Given the description of an element on the screen output the (x, y) to click on. 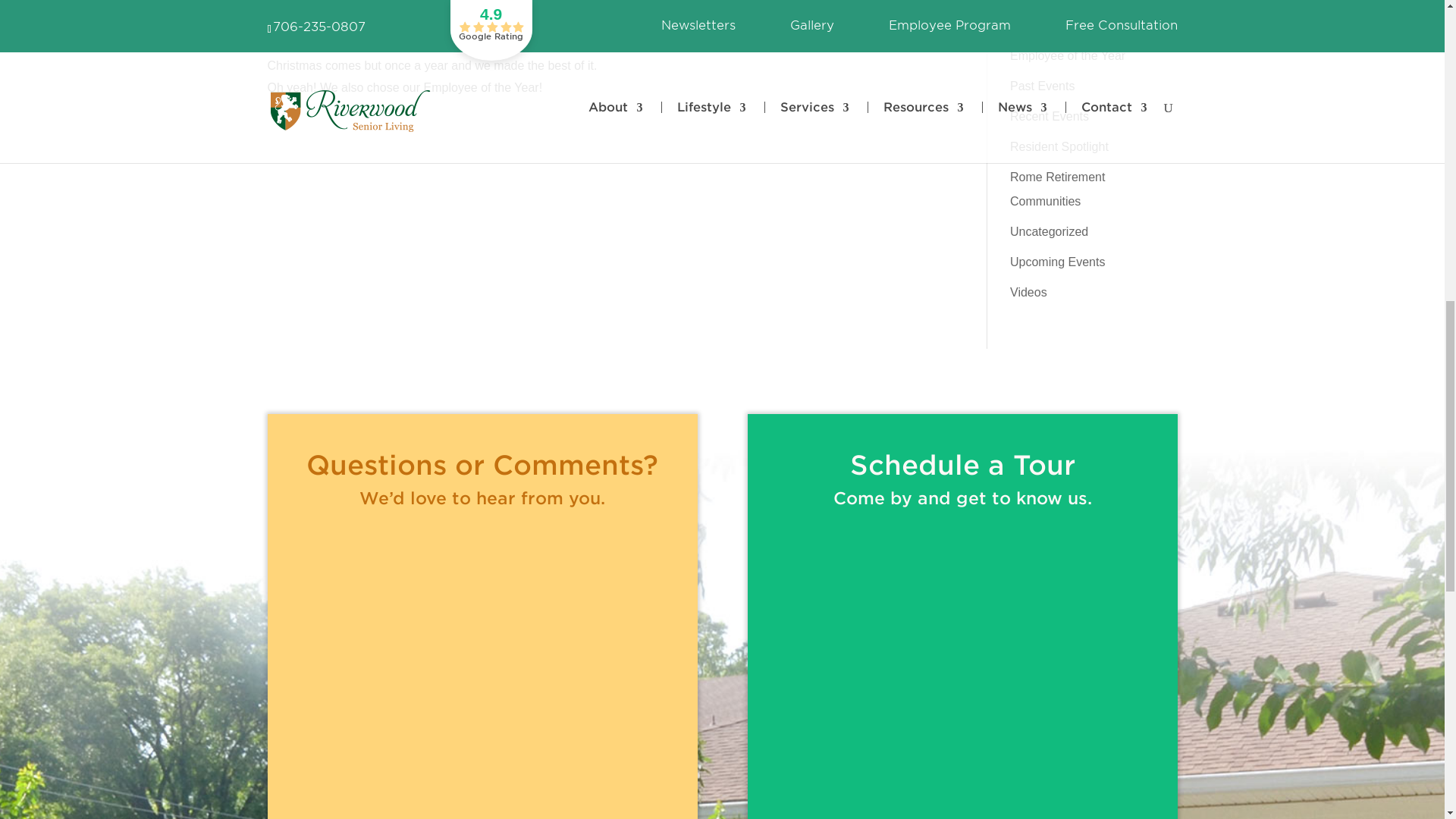
Regency Riverwood: Questions or Comments (481, 669)
Regency Riverwood: Schedule a Tour (962, 669)
